Given the description of an element on the screen output the (x, y) to click on. 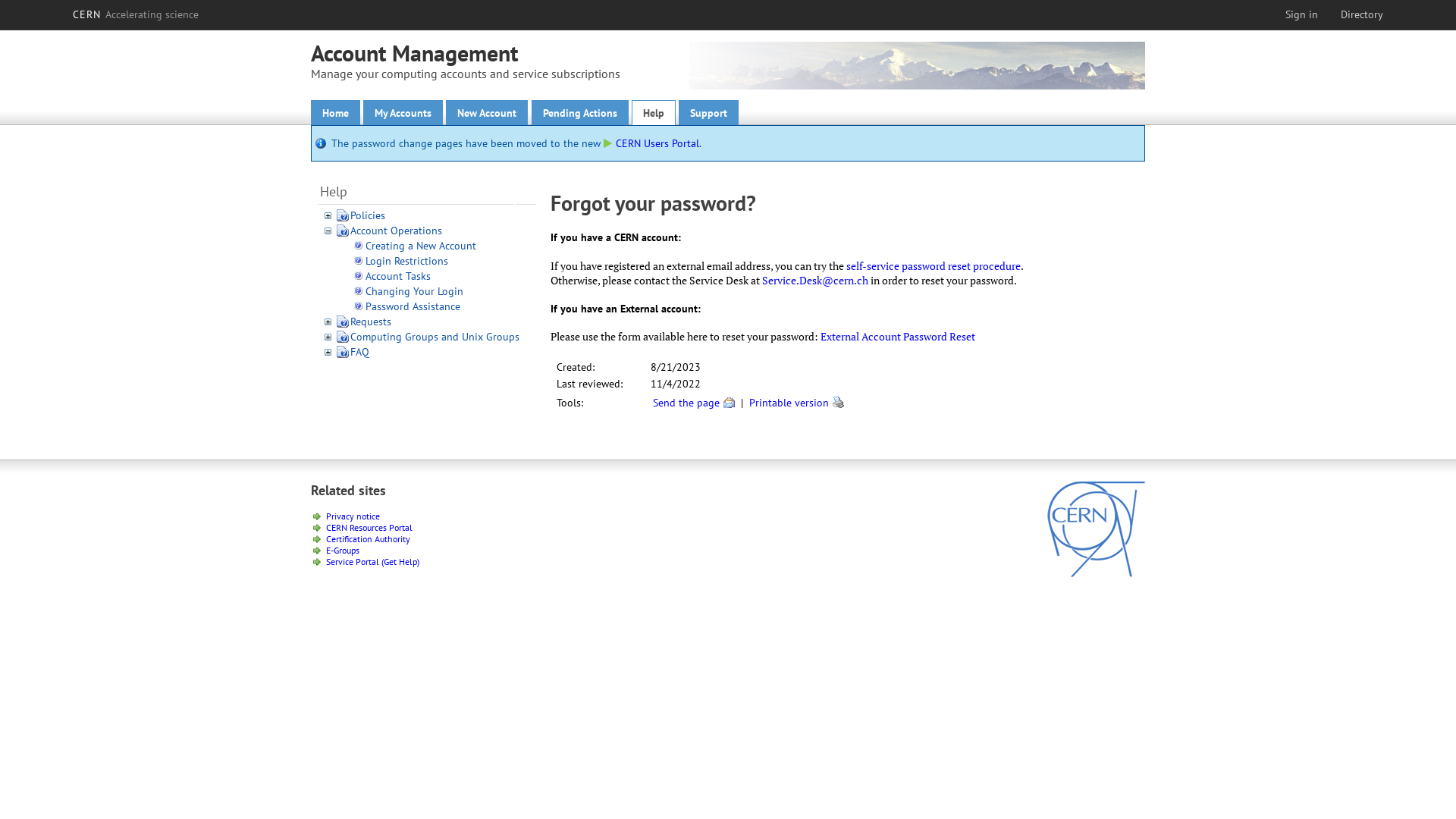
Login Restrictions Element type: text (406, 260)
Requests Element type: text (370, 321)
self-service password reset procedure Element type: text (933, 265)
CERN Resources Portal Element type: text (369, 527)
Service Portal (Get Help) Element type: text (372, 561)
Service.Desk@cern.ch Element type: text (815, 280)
Privacy notice Element type: text (352, 515)
CERN Users Portal Element type: text (651, 143)
Account Operations Element type: text (396, 230)
Directory Element type: text (1361, 14)
Account Tasks Element type: text (397, 275)
Printable version Element type: text (788, 402)
Account Management Element type: text (413, 52)
Sign in Element type: text (1301, 14)
My Accounts Element type: text (402, 112)
Certification Authority Element type: text (368, 538)
Pending Actions Element type: text (579, 112)
Creating a New Account Element type: text (420, 245)
Policies Element type: text (367, 215)
Support Element type: text (708, 112)
Changing Your Login Element type: text (414, 291)
New Account Element type: text (486, 112)
Help Element type: text (653, 112)
CERN Accelerating science Element type: text (135, 14)
External Account Password Reset Element type: text (897, 336)
Password Assistance Element type: text (412, 306)
Computing Groups and Unix Groups Element type: text (434, 336)
FAQ Element type: text (359, 351)
CERN Element type: hover (1096, 573)
Home Element type: text (335, 112)
E-Groups Element type: text (342, 549)
Send the page Element type: text (685, 402)
